Given the description of an element on the screen output the (x, y) to click on. 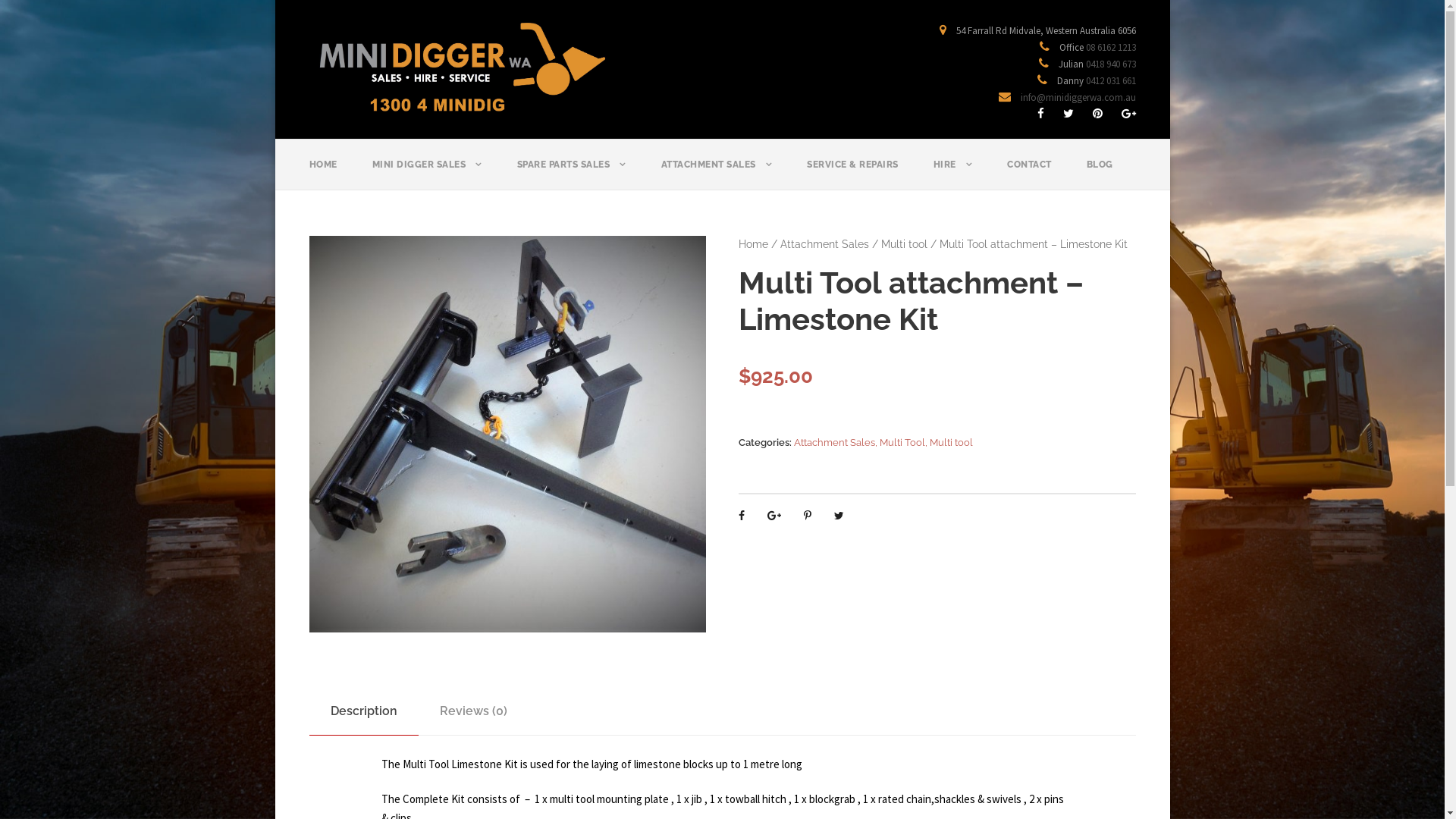
Attachment Sales Element type: text (824, 244)
0412 031 661 Element type: text (1110, 80)
Multi tool Element type: text (950, 442)
HOME Element type: text (323, 172)
Home Element type: text (753, 244)
ATTACHMENT SALES Element type: text (716, 172)
SPARE PARTS SALES Element type: text (571, 172)
MINI DIGGER SALES Element type: text (426, 172)
0418 940 673 Element type: text (1110, 63)
004 Element type: hover (507, 433)
BLOG Element type: text (1098, 172)
SERVICE & REPAIRS Element type: text (852, 172)
08 6162 1213 Element type: text (1110, 46)
CONTACT Element type: text (1029, 172)
Multi Tool Element type: text (902, 442)
Attachment Sales Element type: text (834, 442)
info@minidiggerwa.com.au Element type: text (1077, 97)
Multi tool Element type: text (904, 244)
HIRE Element type: text (952, 172)
